Given the description of an element on the screen output the (x, y) to click on. 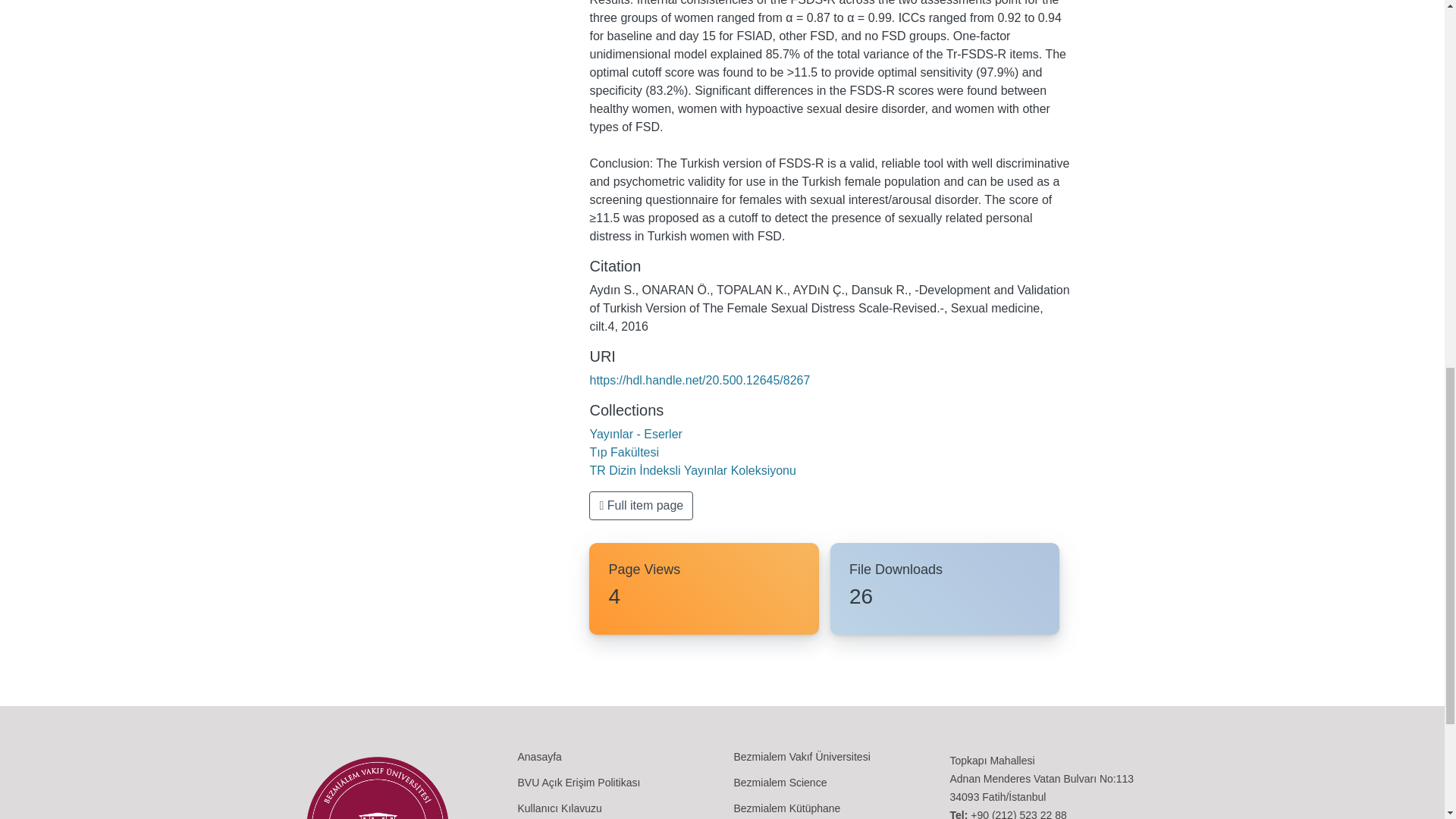
Bezmialem Science (780, 782)
Anasayfa (538, 756)
Full item page (641, 505)
